Given the description of an element on the screen output the (x, y) to click on. 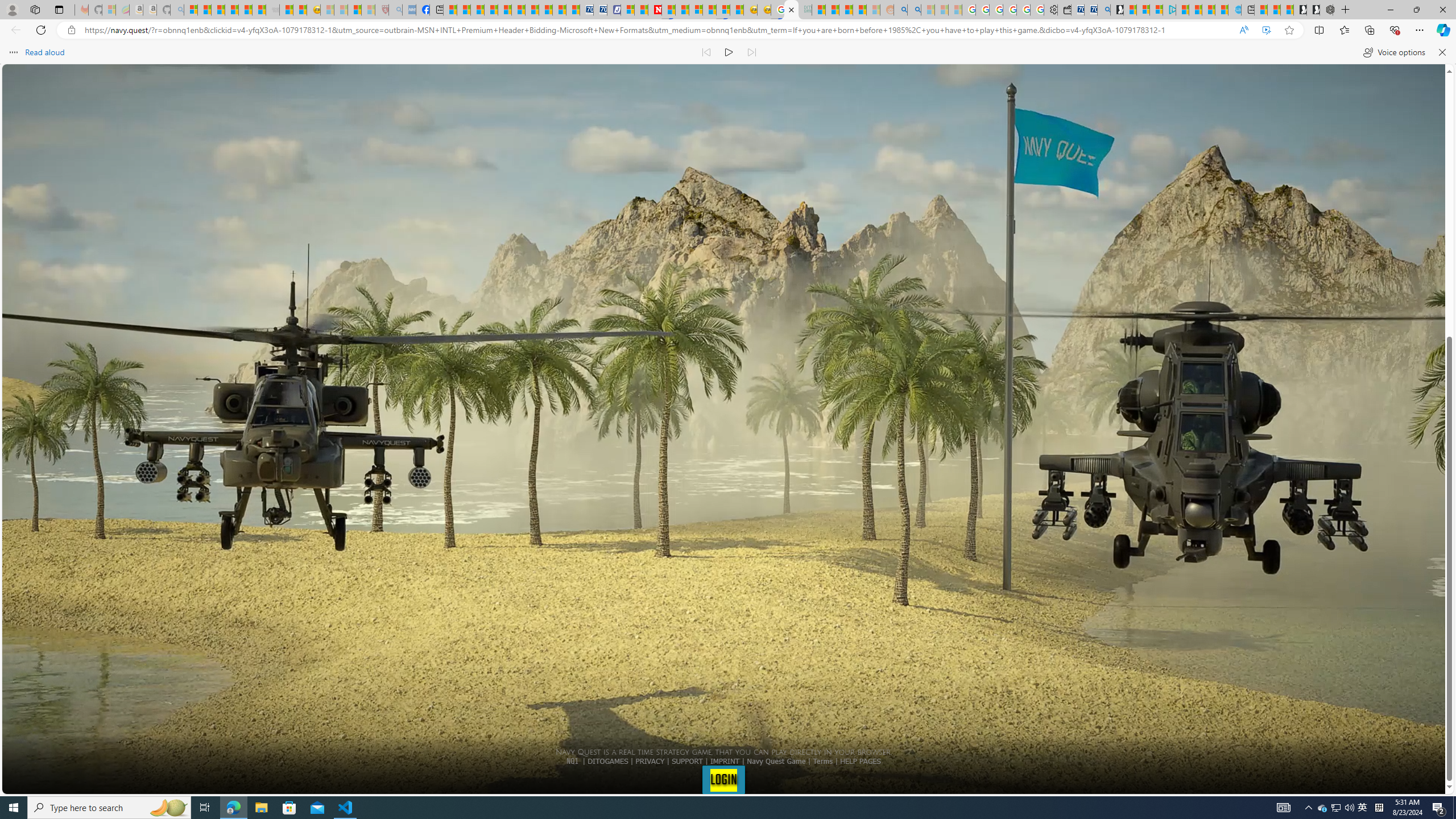
Latest Politics News & Archive | Newsweek.com (654, 9)
PRIVACY (649, 760)
